Given the description of an element on the screen output the (x, y) to click on. 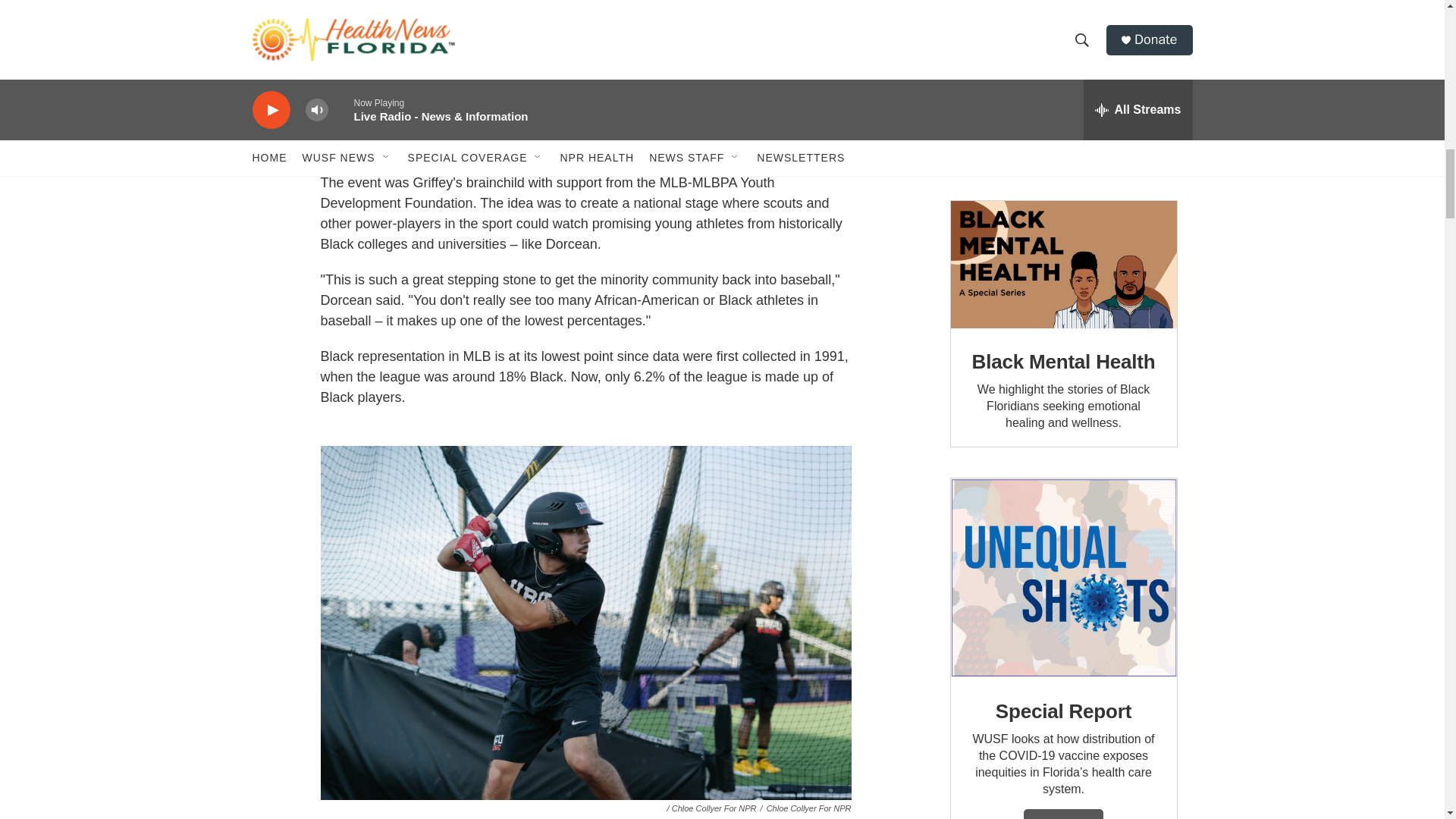
3rd party ad content (1062, 84)
